Given the description of an element on the screen output the (x, y) to click on. 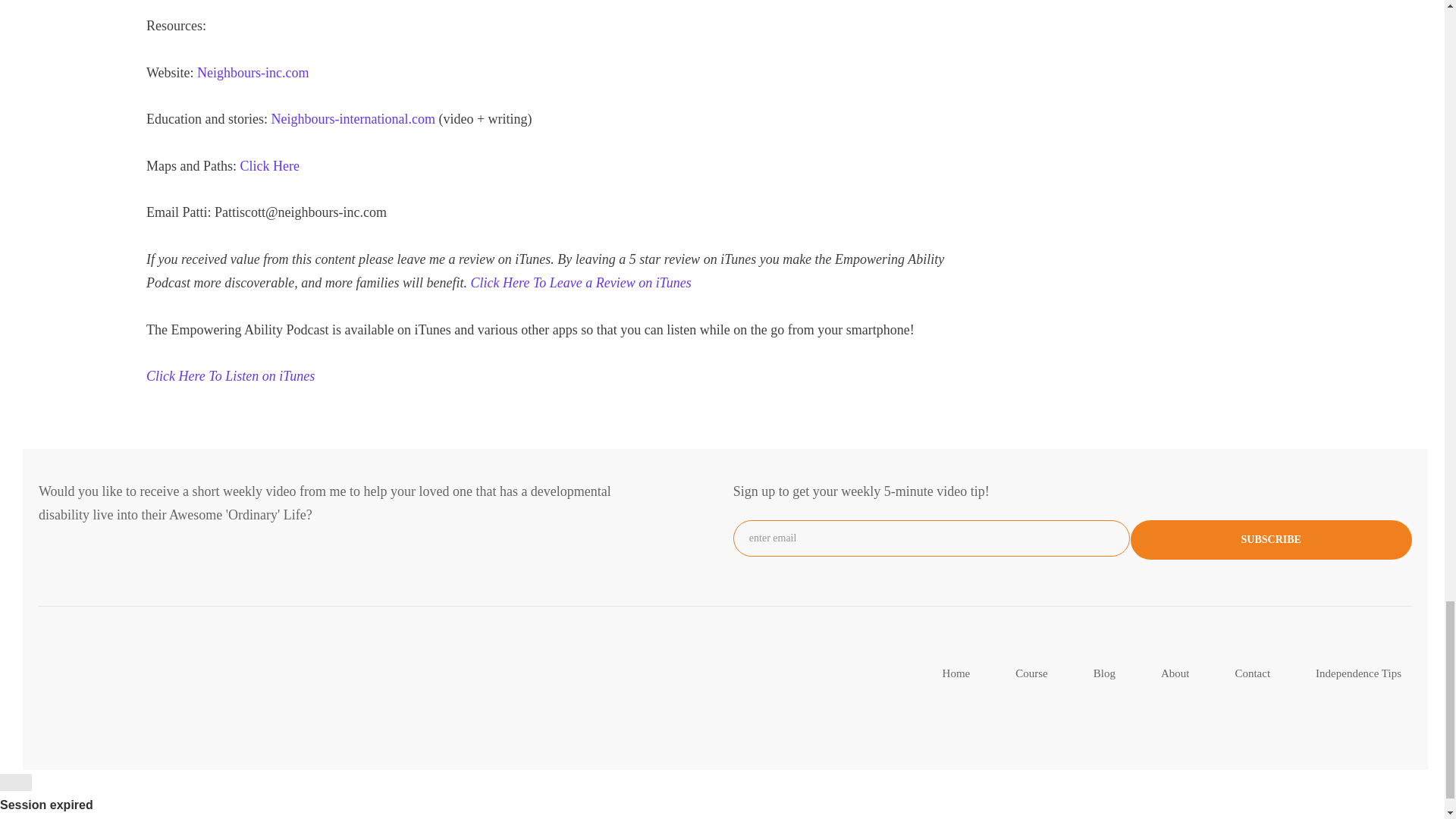
Click Here To Leave a Review on iTunes (580, 282)
Click Here (269, 165)
Neighbours-international.com (354, 118)
Neighbours-inc.com (252, 72)
Click Here To Listen on iTunes (230, 376)
